Given the description of an element on the screen output the (x, y) to click on. 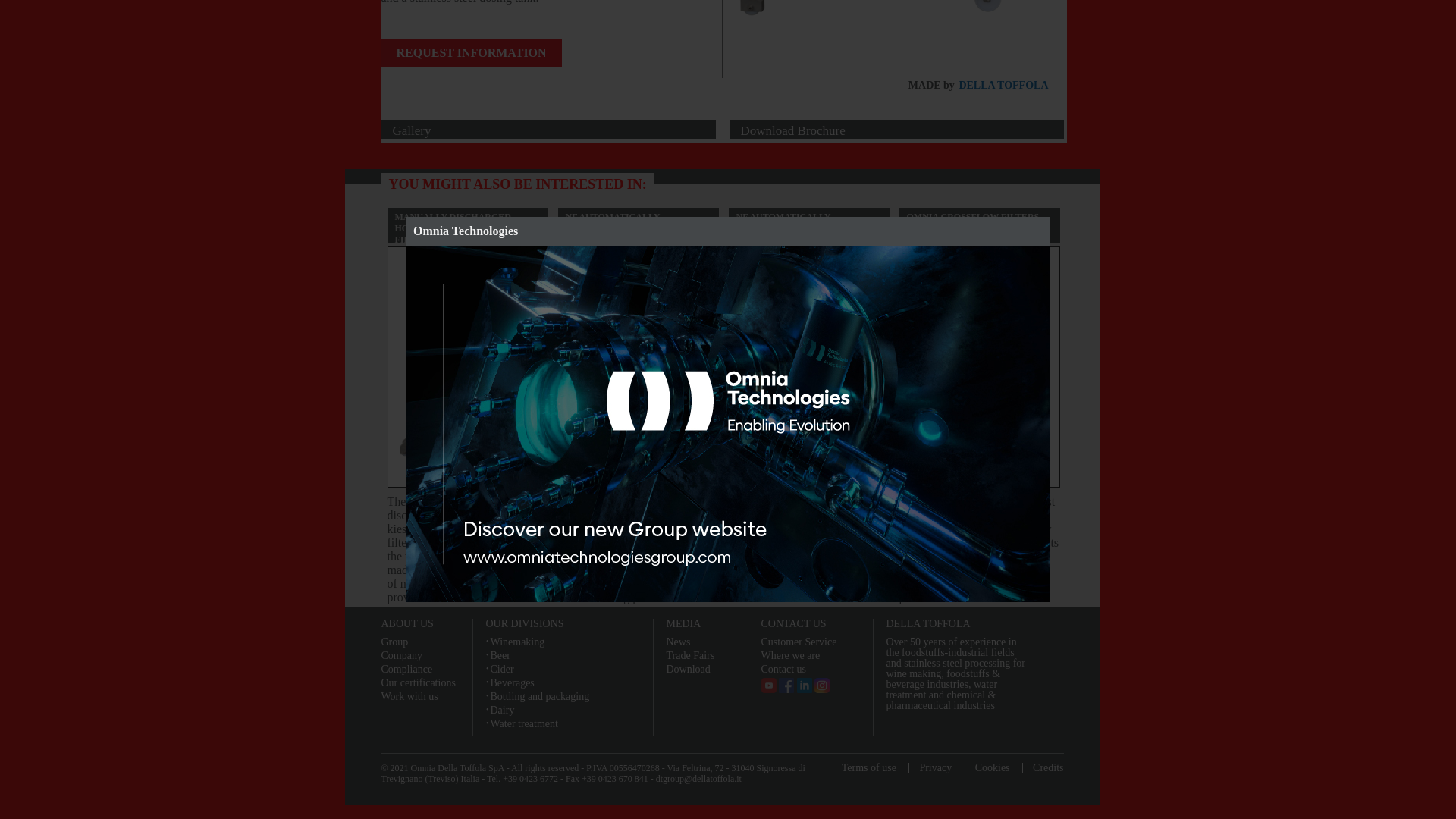
Manually discharged horizontal disk kieselgur filters (899, 35)
